Given the description of an element on the screen output the (x, y) to click on. 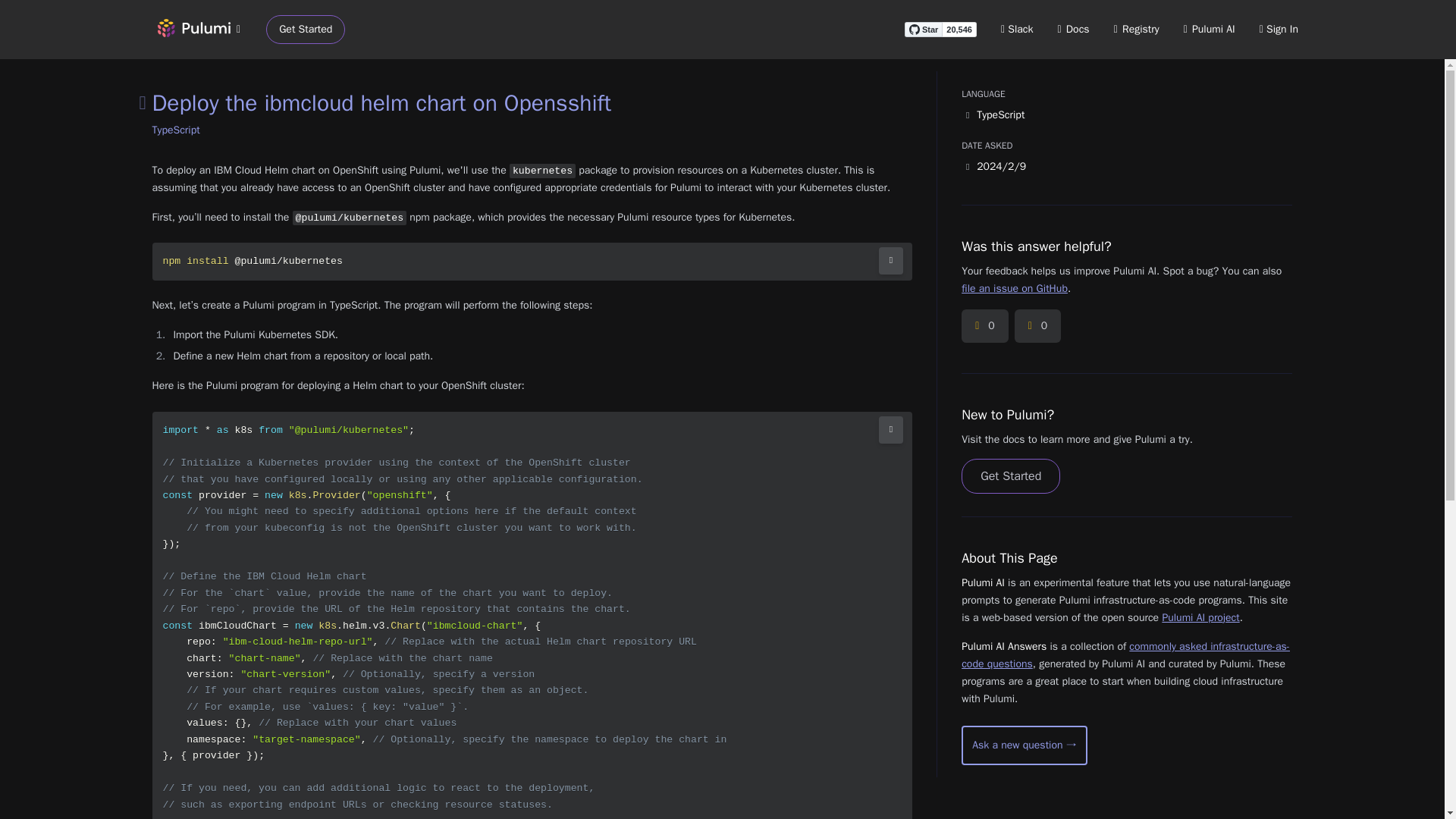
Downvote this answer (1037, 326)
Slack (1017, 29)
Registry (1135, 29)
Sign In (1278, 29)
Get Started (305, 29)
Start a new conversation with Pulumi AI (1023, 744)
Pulumi AI (1208, 29)
20,546 (959, 29)
Upvote this answer (984, 326)
0 (984, 326)
Docs (1073, 29)
file an issue on GitHub (1013, 287)
 Star (923, 29)
